Given the description of an element on the screen output the (x, y) to click on. 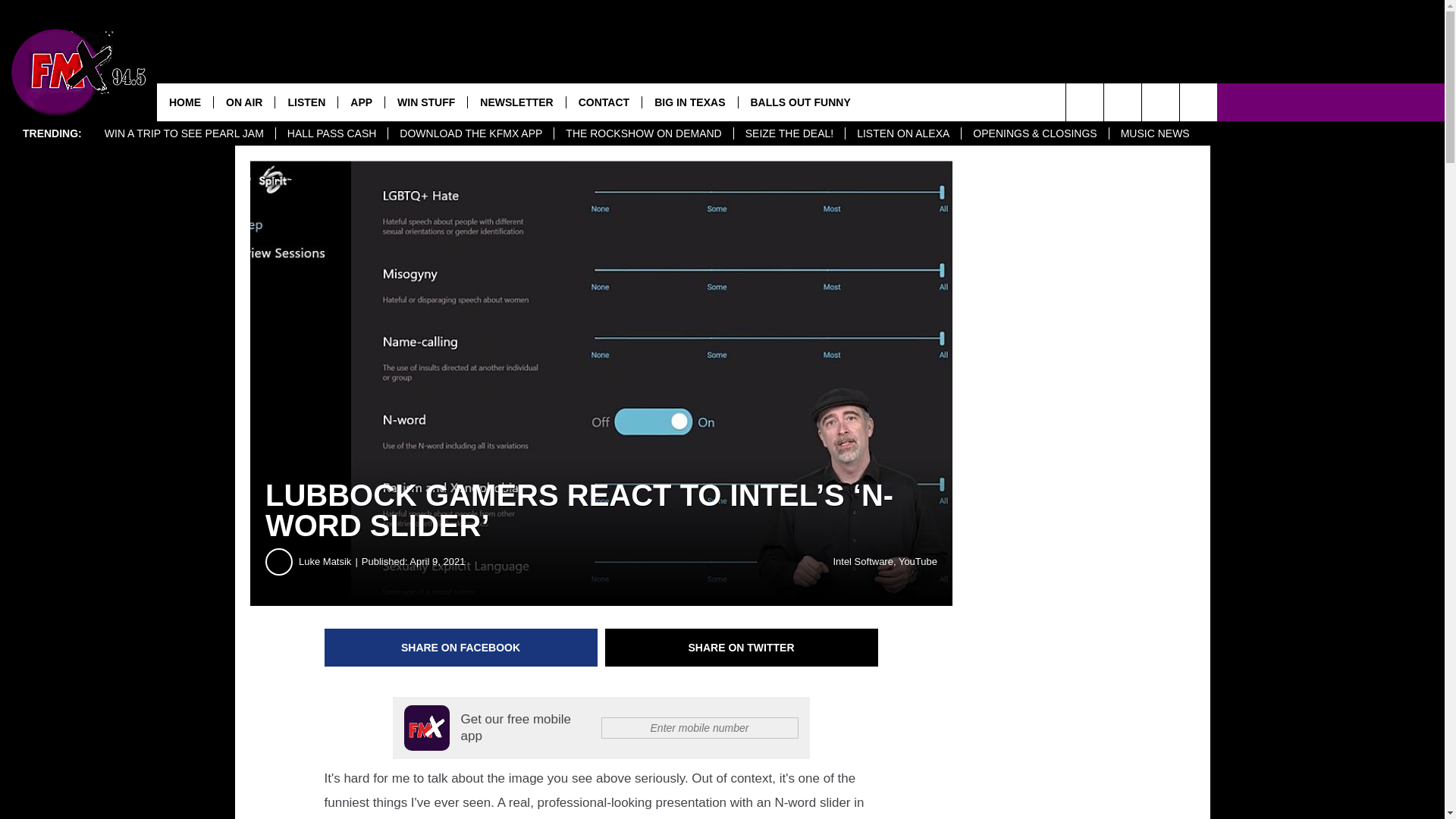
SEIZE THE DEAL! (788, 133)
HALL PASS CASH (331, 133)
MUSIC NEWS (1154, 133)
TRENDING: (52, 133)
NEWSLETTER (515, 102)
WIN A TRIP TO SEE PEARL JAM (184, 133)
LISTEN (306, 102)
LISTEN ON ALEXA (902, 133)
Share on Twitter (741, 647)
ON AIR (243, 102)
